Given the description of an element on the screen output the (x, y) to click on. 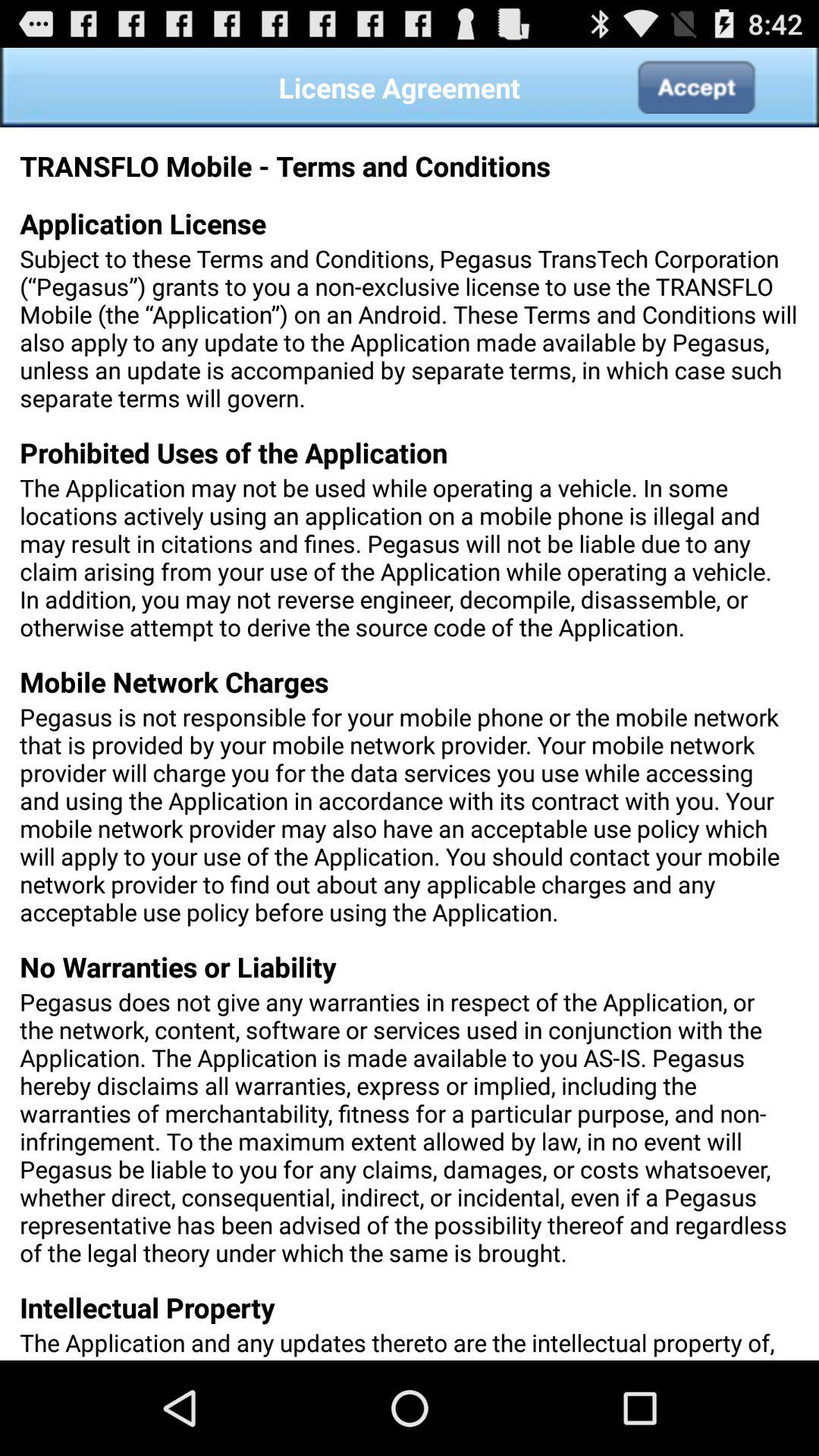
tap the icon next to license agreement item (695, 86)
